Given the description of an element on the screen output the (x, y) to click on. 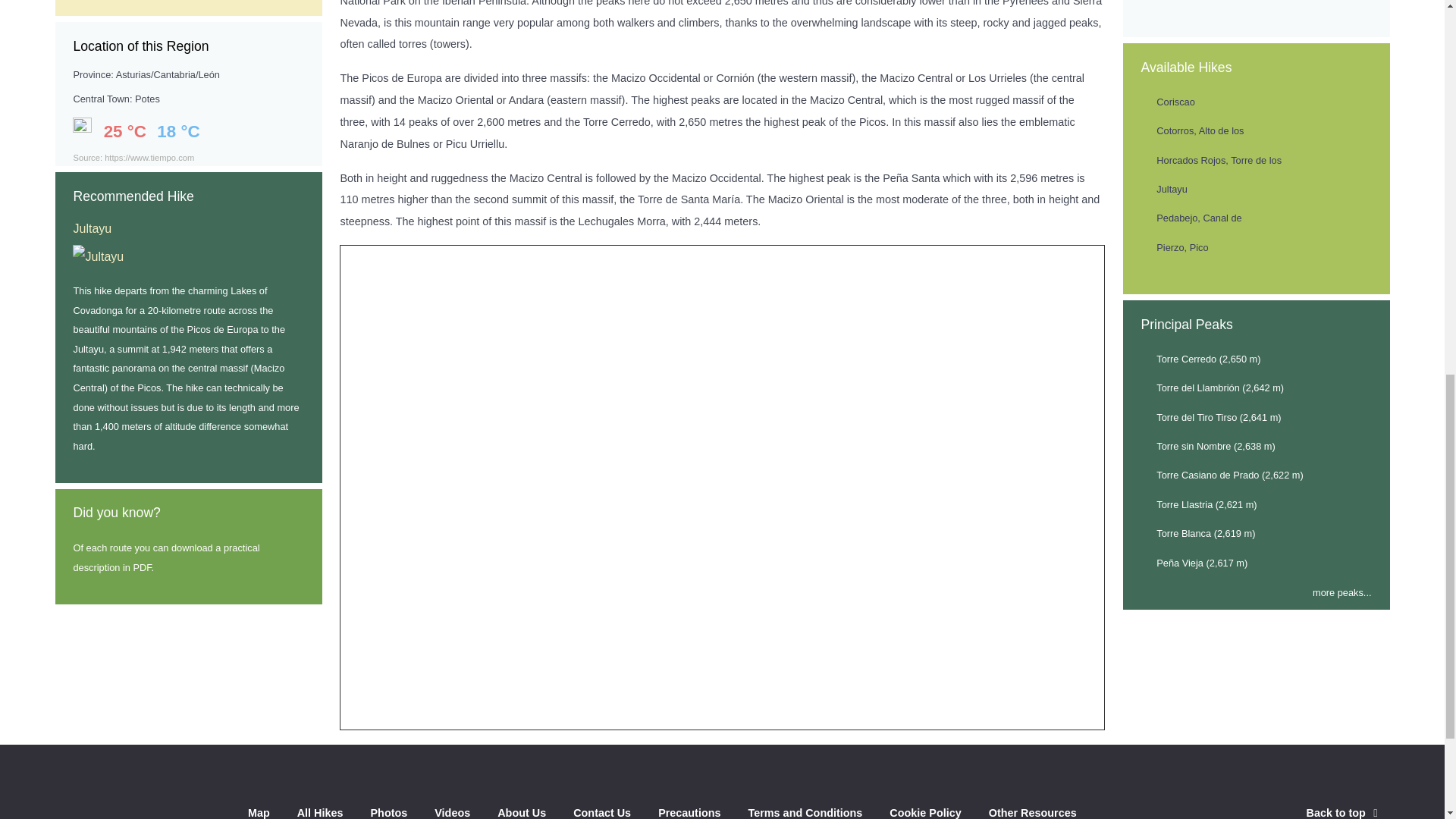
About Us (521, 810)
Back to top (1343, 812)
Terms and Conditions (804, 810)
All Hikes (320, 810)
Precautions (689, 810)
Cookie Policy (924, 810)
Other Resources (1032, 810)
Contact Us (601, 810)
Photos (388, 810)
Videos (451, 810)
Map (258, 810)
